Given the description of an element on the screen output the (x, y) to click on. 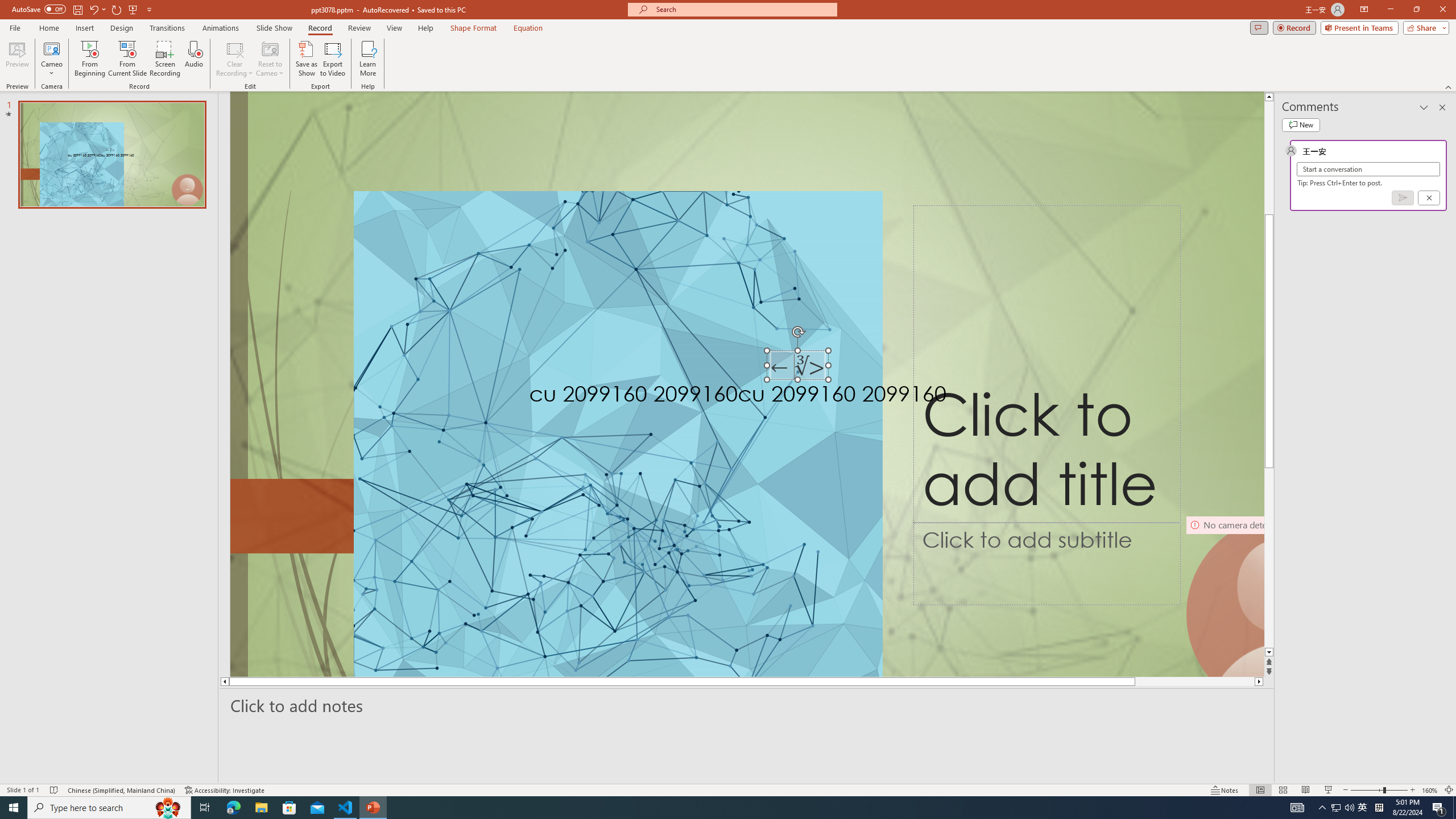
From Current Slide... (127, 58)
Start a conversation (1368, 168)
Page up (1268, 135)
Cancel (1428, 197)
Slide Notes (746, 705)
